Given the description of an element on the screen output the (x, y) to click on. 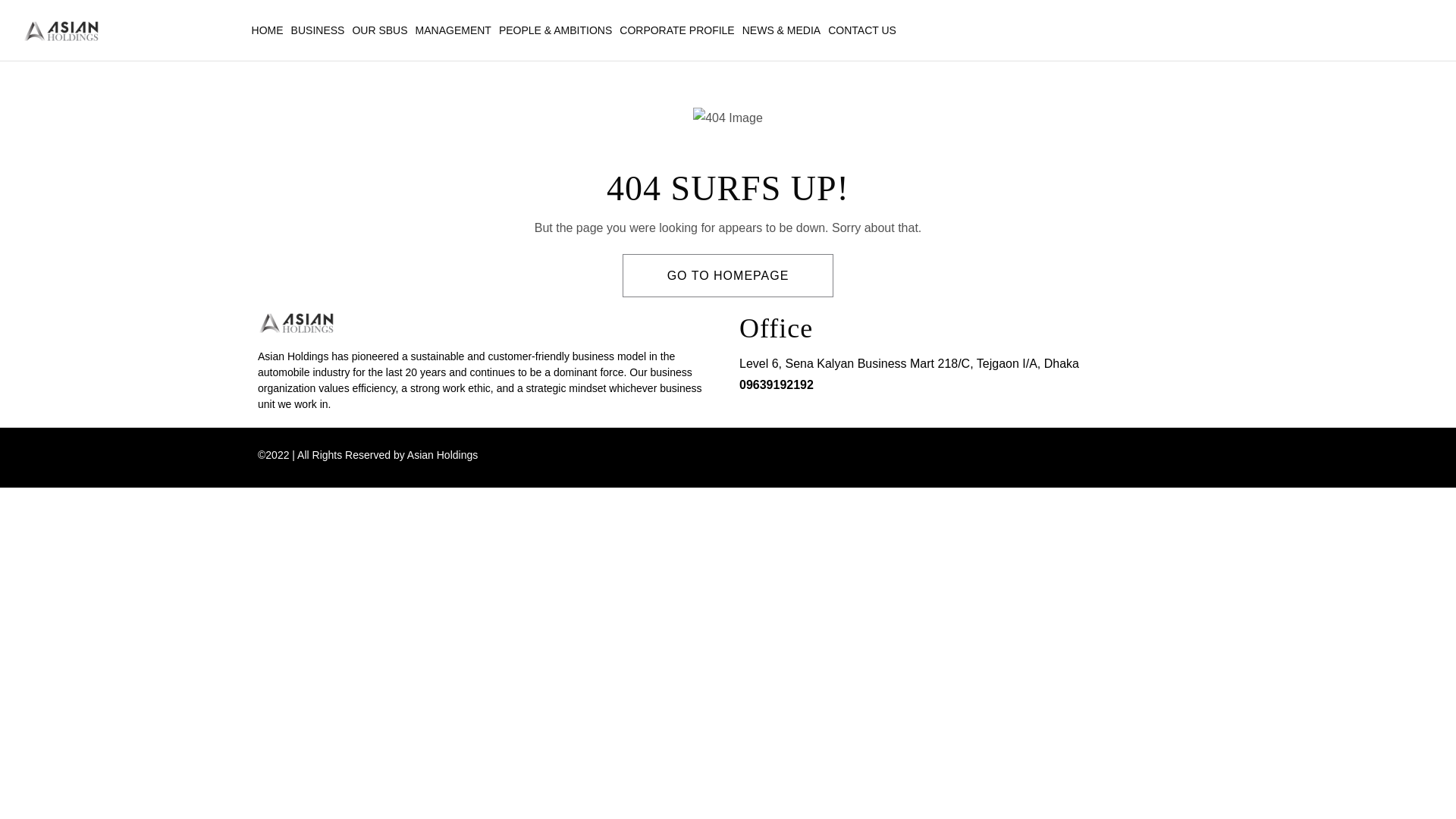
NEWS & MEDIA Element type: text (781, 30)
CORPORATE PROFILE Element type: text (676, 30)
MANAGEMENT Element type: text (453, 30)
HOME Element type: text (267, 30)
CONTACT US Element type: text (862, 30)
GO TO HOMEPAGE Element type: text (727, 275)
PEOPLE & AMBITIONS Element type: text (554, 30)
09639192192 Element type: text (776, 384)
BUSINESS Element type: text (318, 30)
OUR SBUS Element type: text (379, 30)
